Given the description of an element on the screen output the (x, y) to click on. 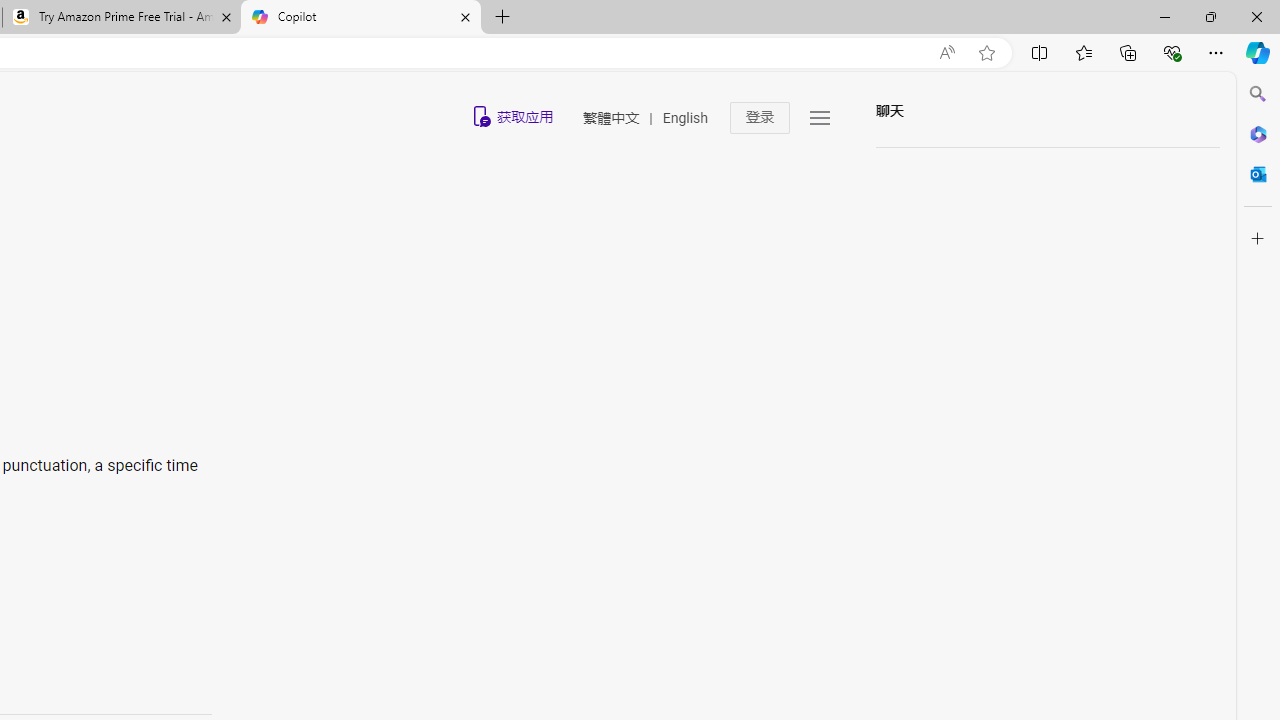
English (684, 118)
